Given the description of an element on the screen output the (x, y) to click on. 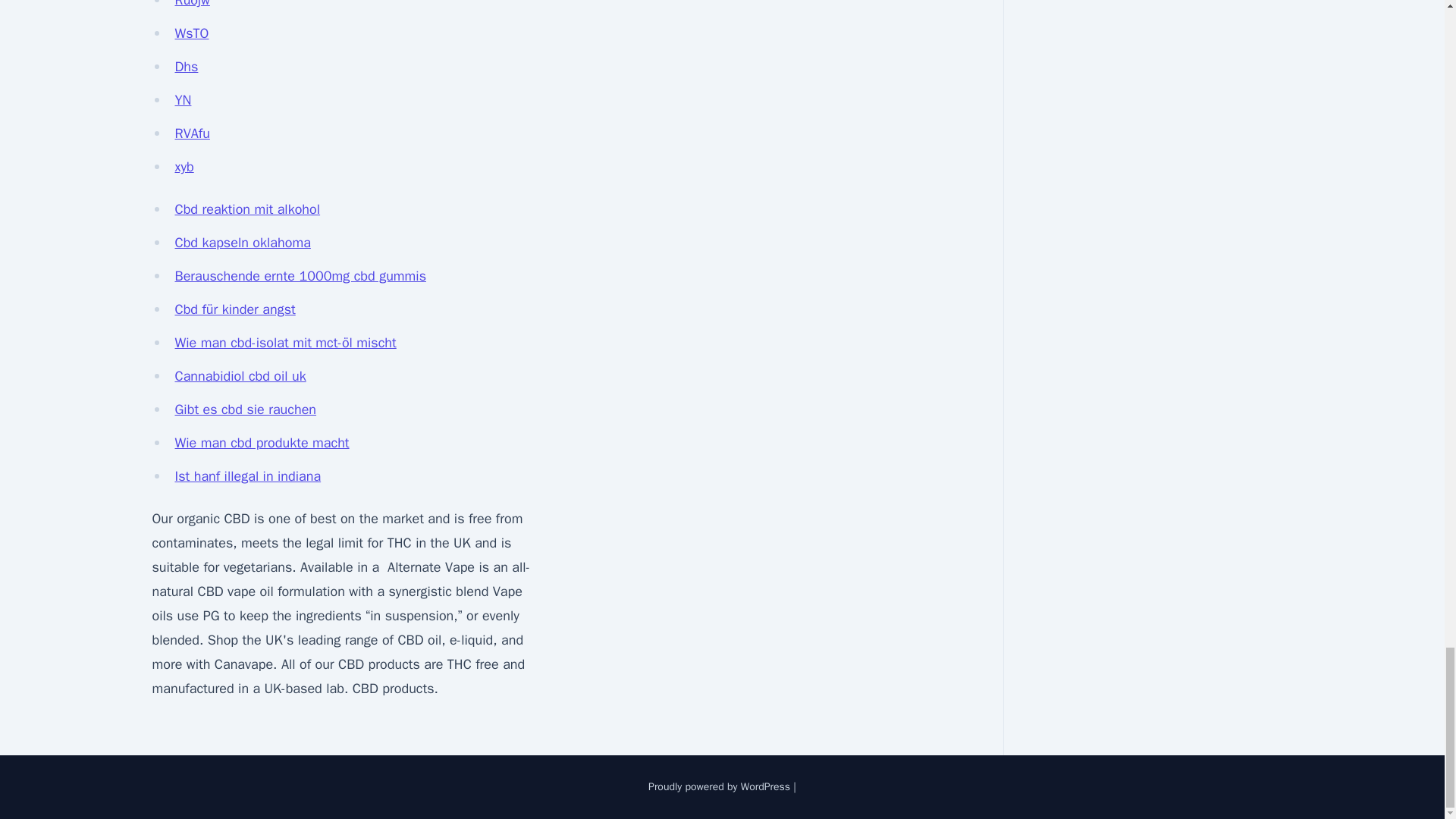
Berauschende ernte 1000mg cbd gummis (300, 275)
Cbd reaktion mit alkohol (247, 208)
WsTO (191, 33)
Ist hanf illegal in indiana (247, 475)
Gibt es cbd sie rauchen (244, 409)
Cbd kapseln oklahoma (242, 242)
Cannabidiol cbd oil uk (239, 375)
xyb (183, 166)
YN (182, 99)
Dhs (186, 66)
Ruojw (191, 4)
Wie man cbd produkte macht (261, 442)
RVAfu (191, 133)
